Given the description of an element on the screen output the (x, y) to click on. 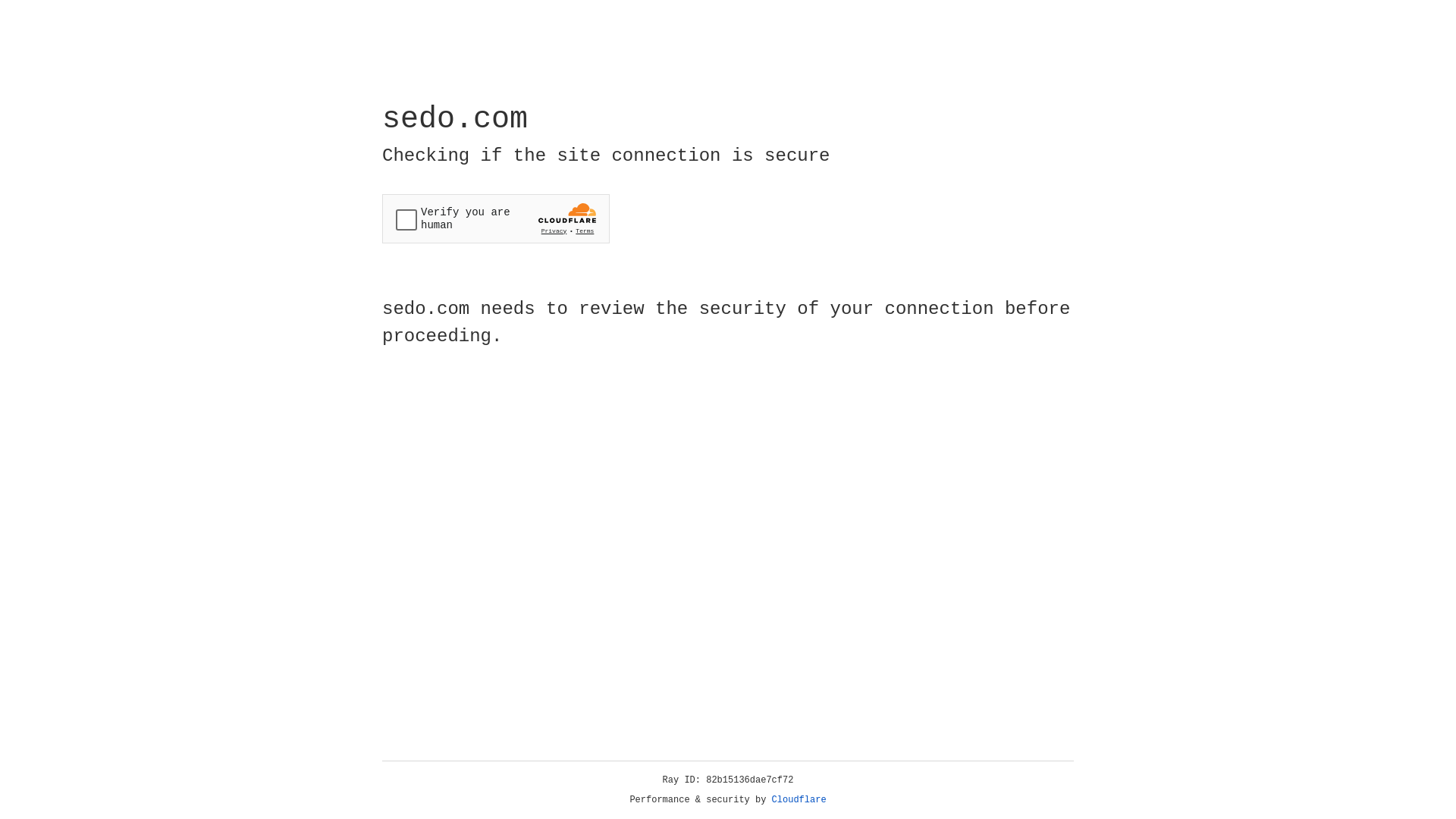
Cloudflare Element type: text (798, 799)
Widget containing a Cloudflare security challenge Element type: hover (495, 218)
